Given the description of an element on the screen output the (x, y) to click on. 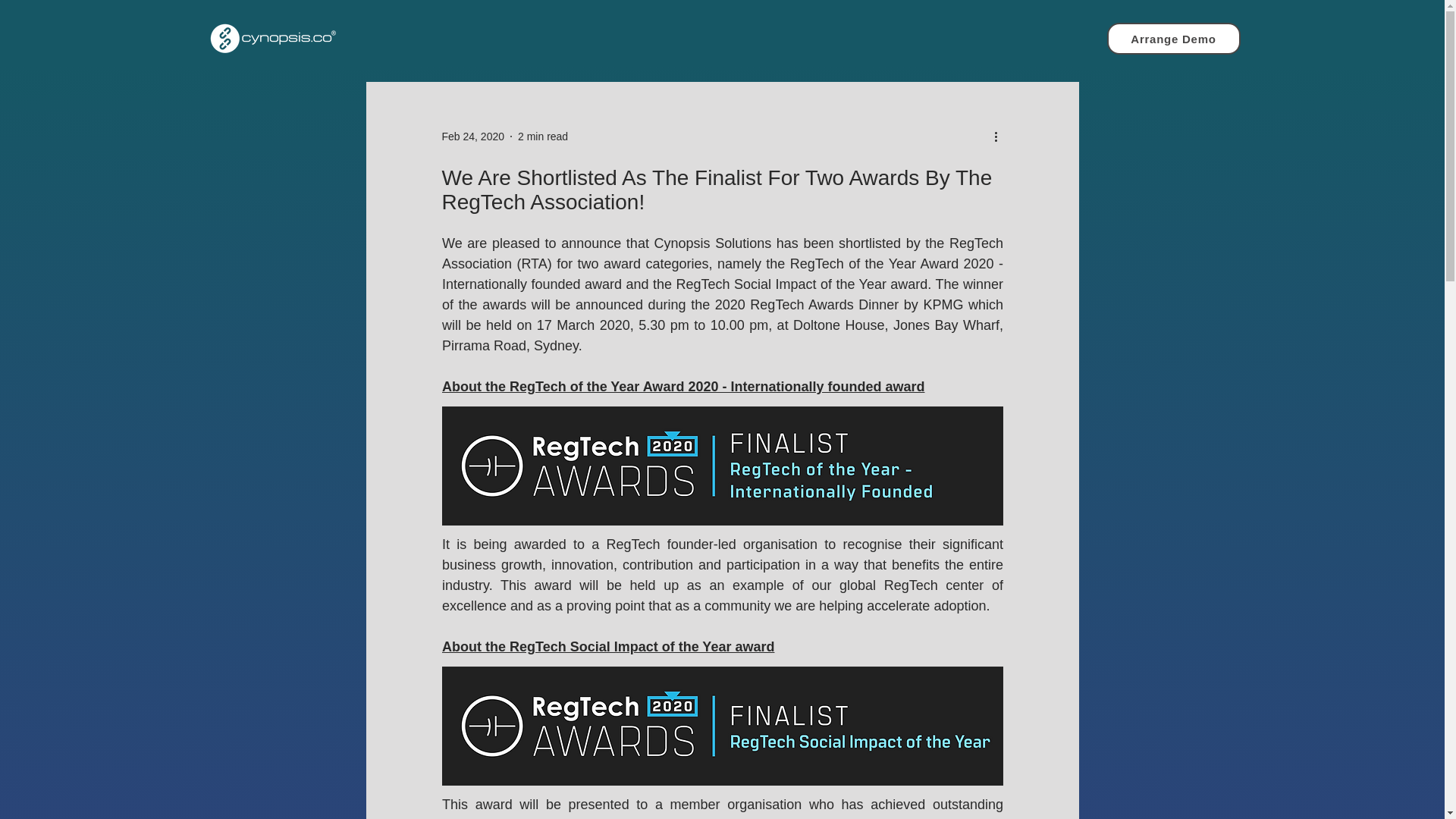
Arrange Demo (1173, 38)
Feb 24, 2020 (472, 136)
2 min read (542, 136)
